Given the description of an element on the screen output the (x, y) to click on. 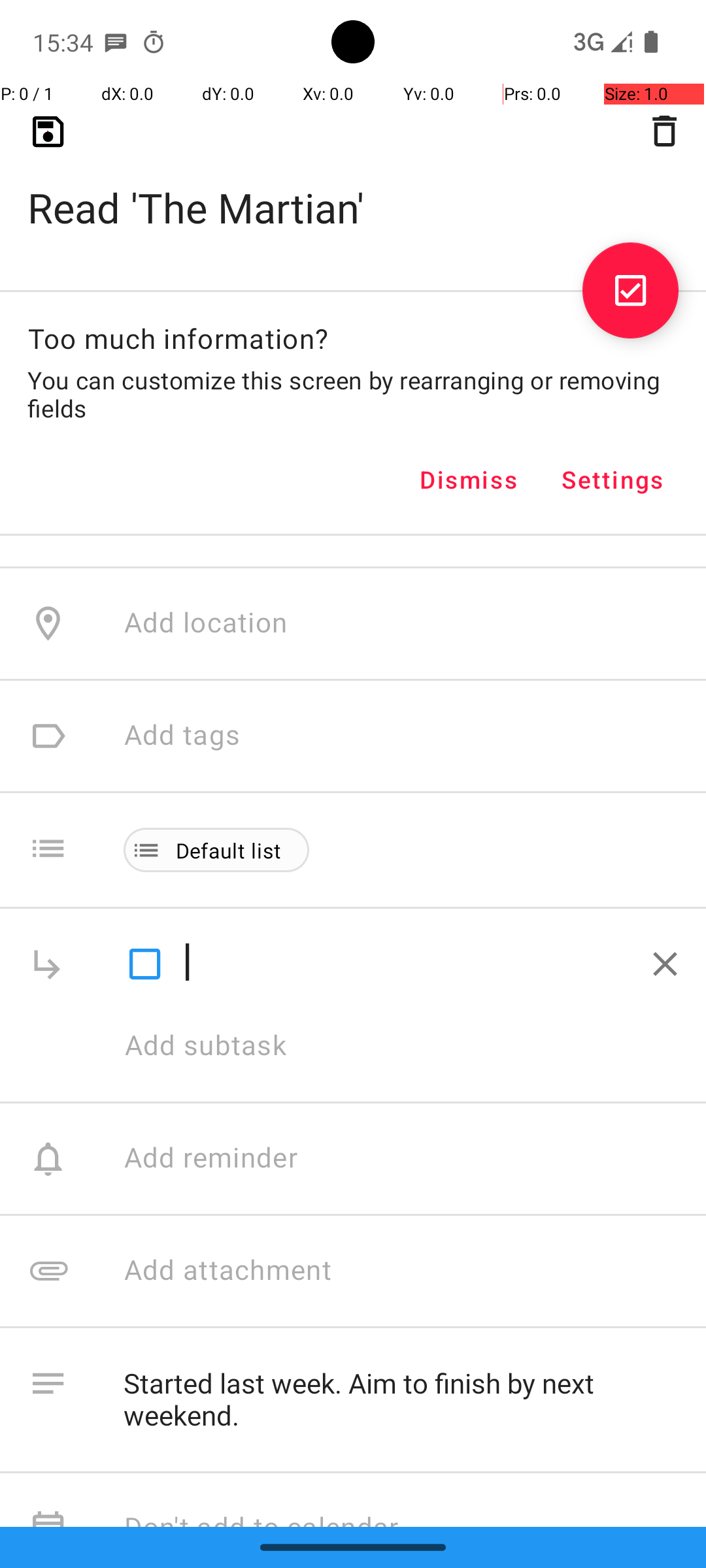
Week before due 21:35 Element type: android.widget.TextView (272, 122)
Repeats daily Element type: android.widget.TextView (400, 347)
